Given the description of an element on the screen output the (x, y) to click on. 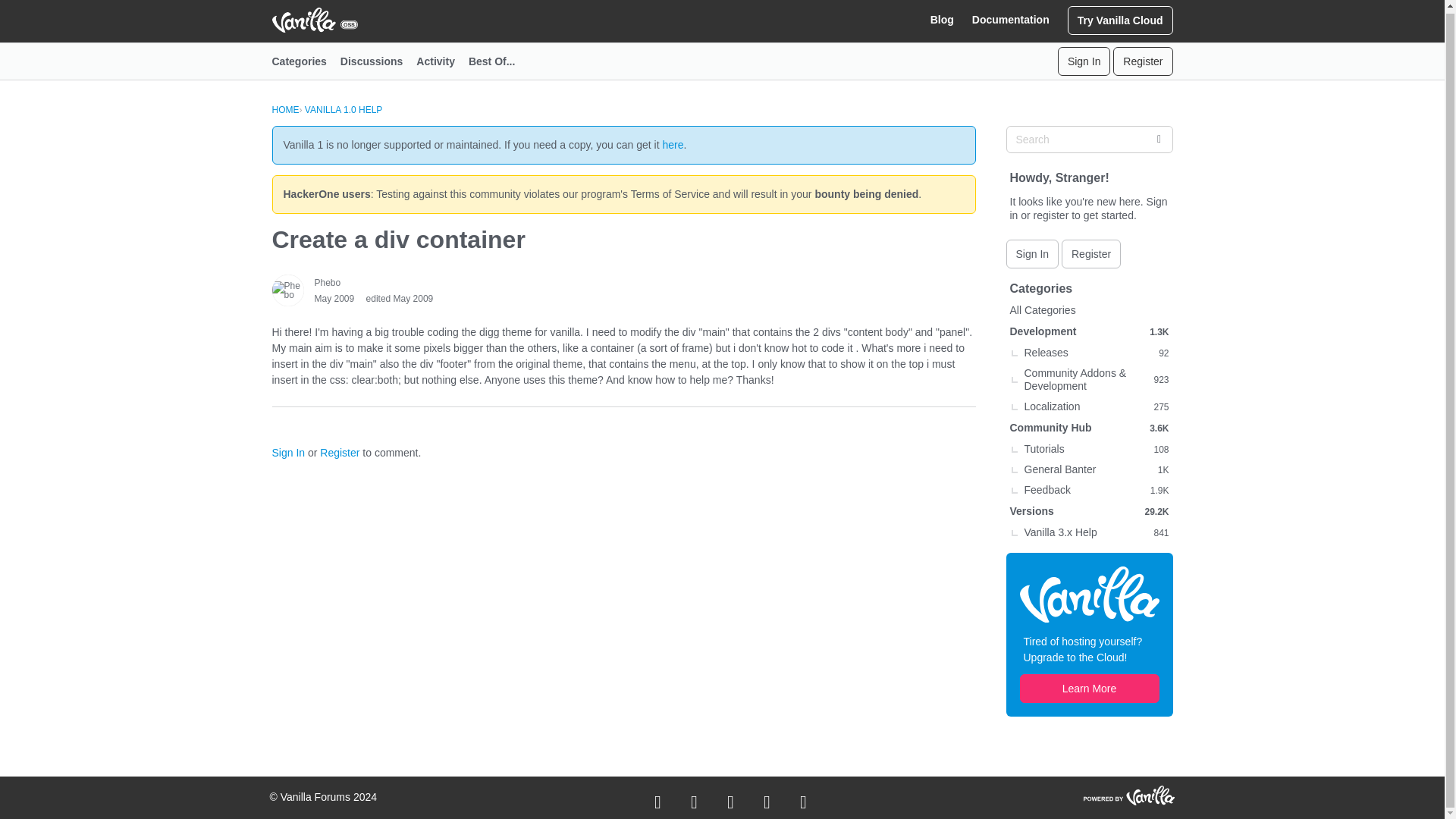
Phebo (327, 282)
Register (1142, 61)
1,290 discussions (1159, 332)
HOME (284, 109)
Go (1158, 139)
Edited May 5, 2009 6:56PM by Phebo. (399, 298)
29,182 discussions (1156, 510)
May 2009 (333, 298)
VANILLA 1.0 HELP (343, 109)
Discussions (378, 61)
